Given the description of an element on the screen output the (x, y) to click on. 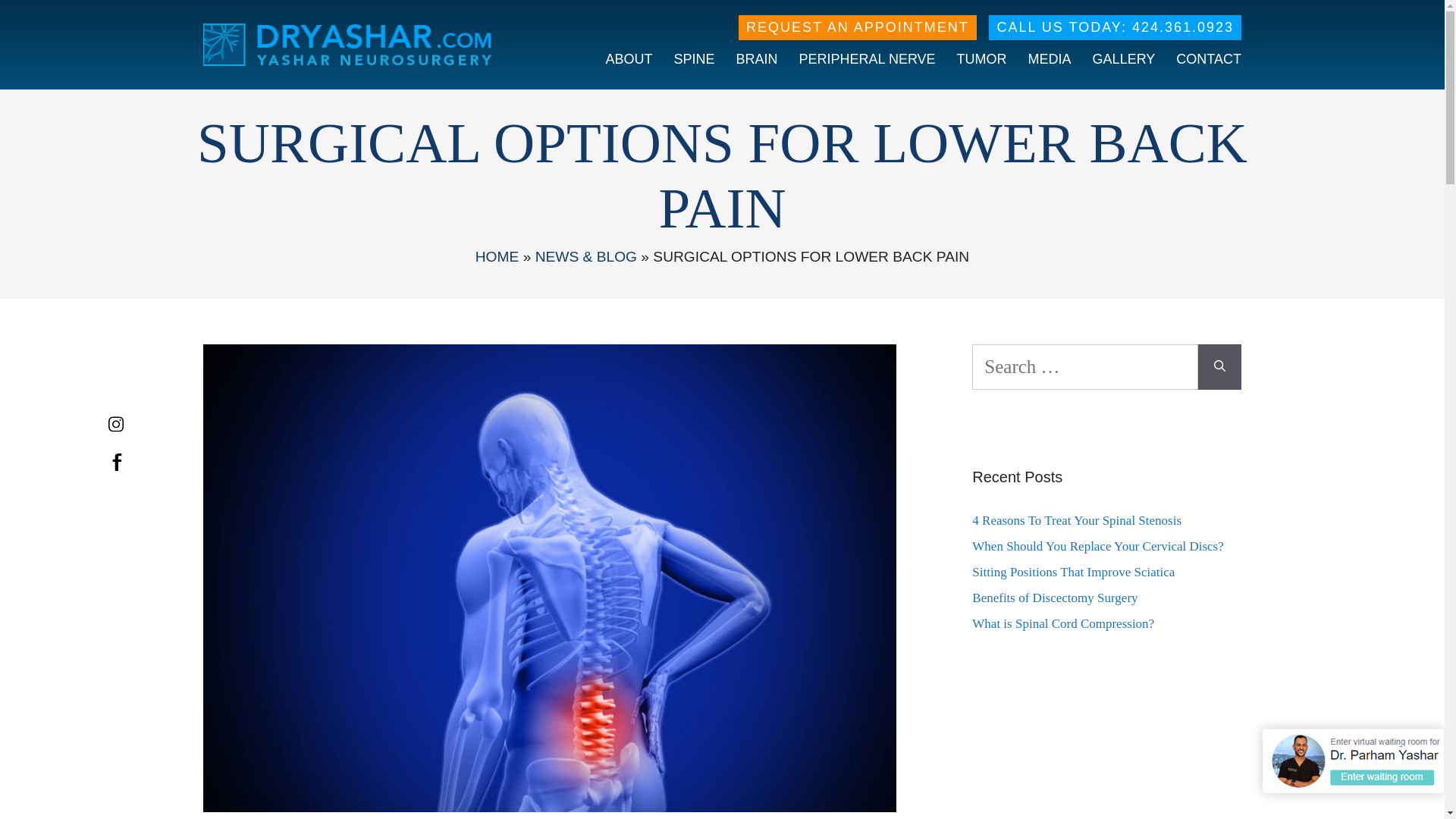
Search for: (1085, 366)
REQUEST AN APPOINTMENT (857, 27)
BRAIN (755, 59)
ABOUT (626, 59)
SPINE (692, 59)
424.361.0923 (1182, 27)
